Given the description of an element on the screen output the (x, y) to click on. 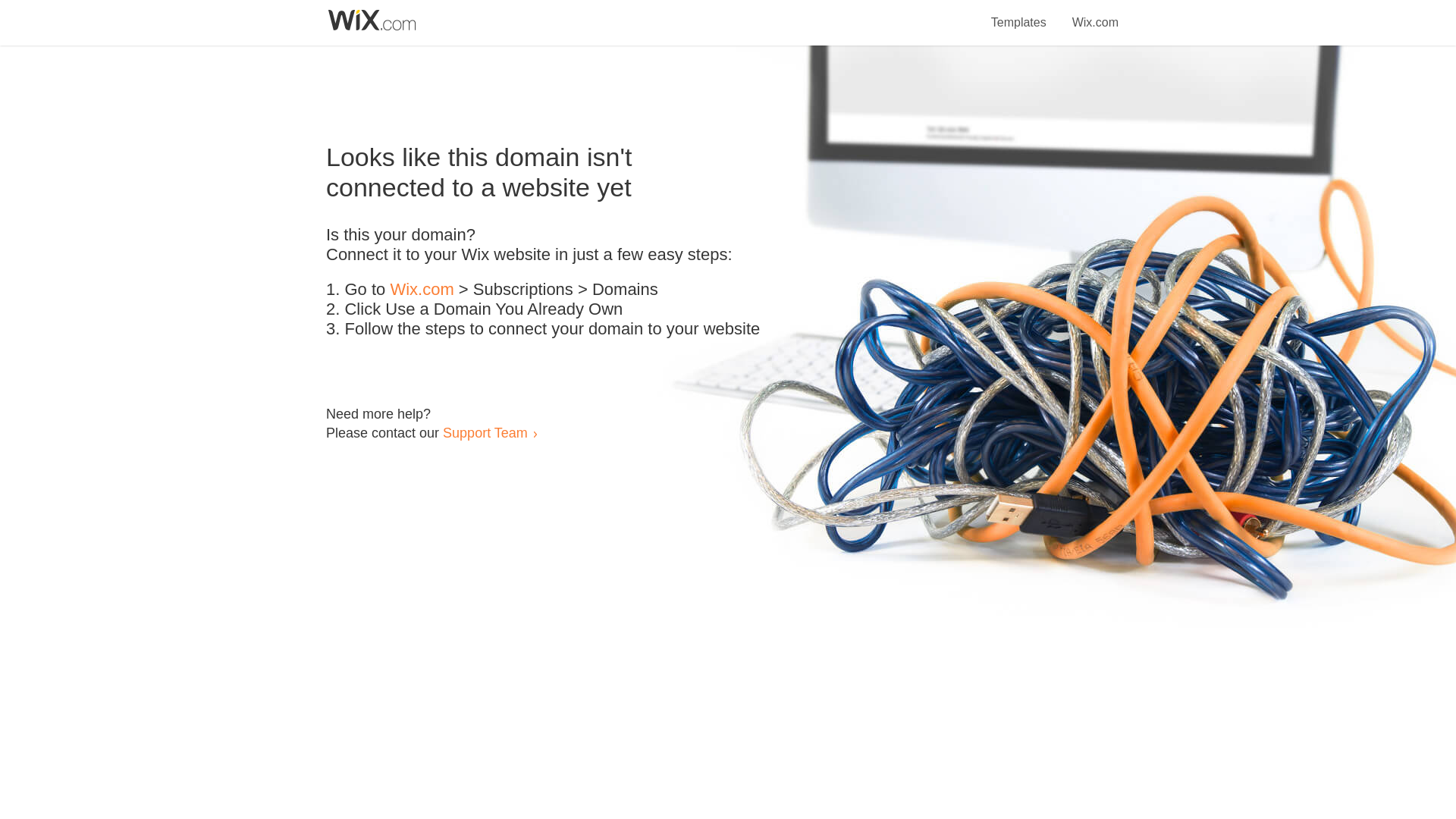
Support Team (484, 432)
Templates (1018, 14)
Wix.com (1095, 14)
Wix.com (421, 289)
